Given the description of an element on the screen output the (x, y) to click on. 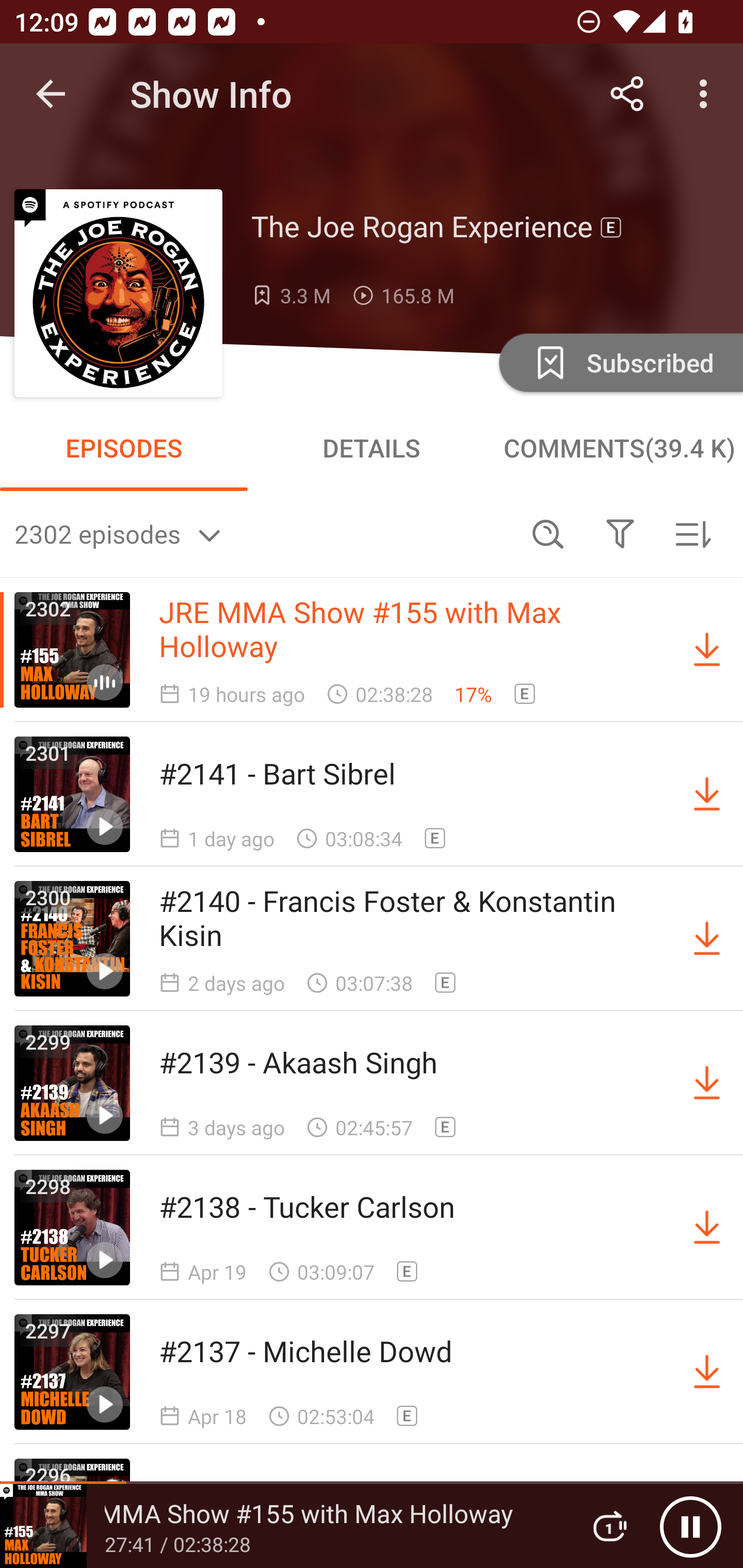
Navigate up (50, 93)
Share (626, 93)
More options (706, 93)
Unsubscribe Subscribed (619, 361)
EPISODES (123, 447)
DETAILS (371, 447)
COMMENTS(39.4 K) (619, 447)
2302 episodes  (262, 533)
 Search (547, 533)
 (619, 533)
 Sorted by newest first (692, 533)
Download (706, 649)
Download (706, 793)
Download (706, 939)
Download (706, 1083)
Download (706, 1227)
Download (706, 1371)
Pause (690, 1526)
